Given the description of an element on the screen output the (x, y) to click on. 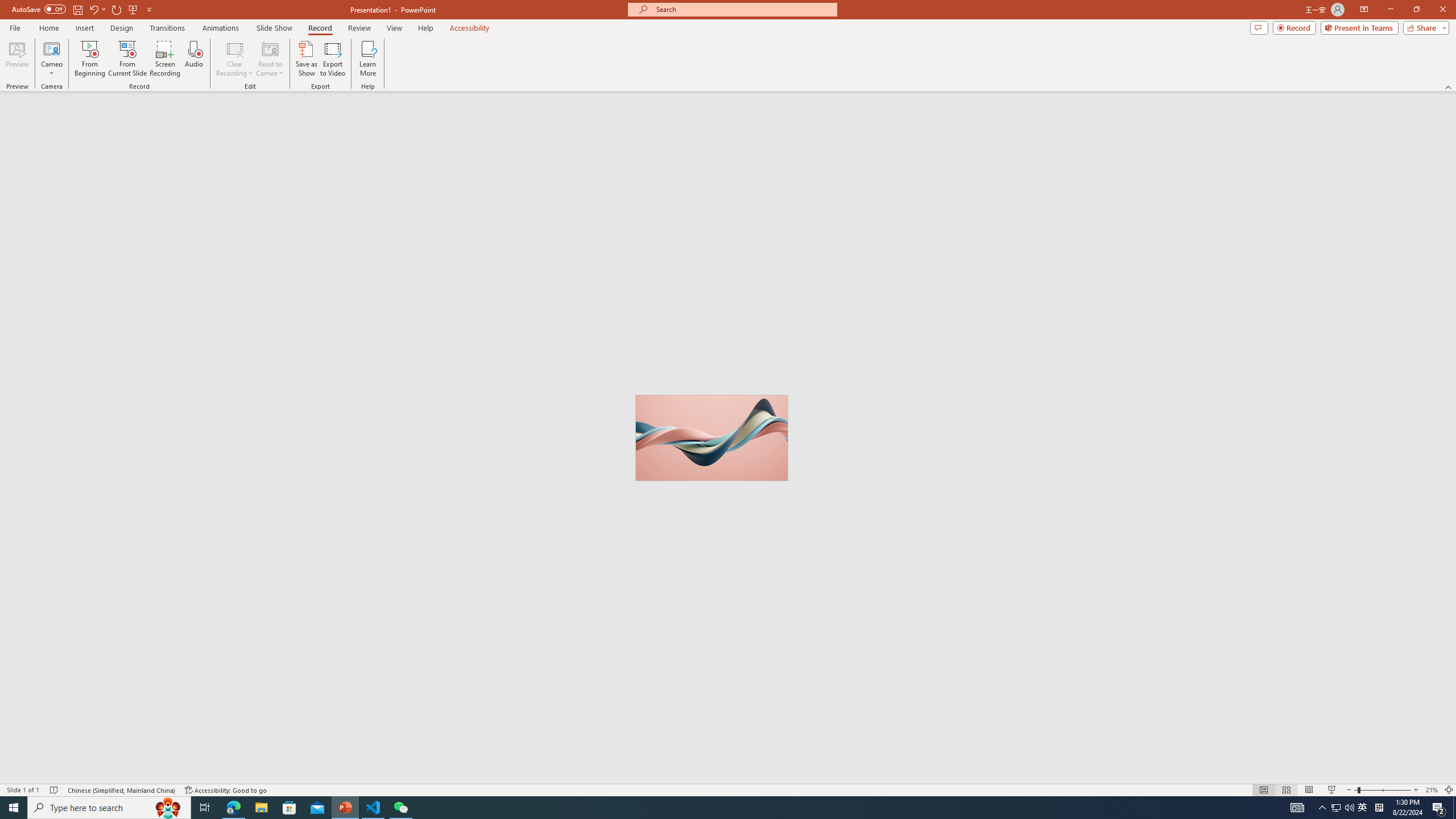
From Beginning... (89, 58)
From Current Slide... (127, 58)
Zoom 21% (1431, 790)
Save as Show (306, 58)
